Given the description of an element on the screen output the (x, y) to click on. 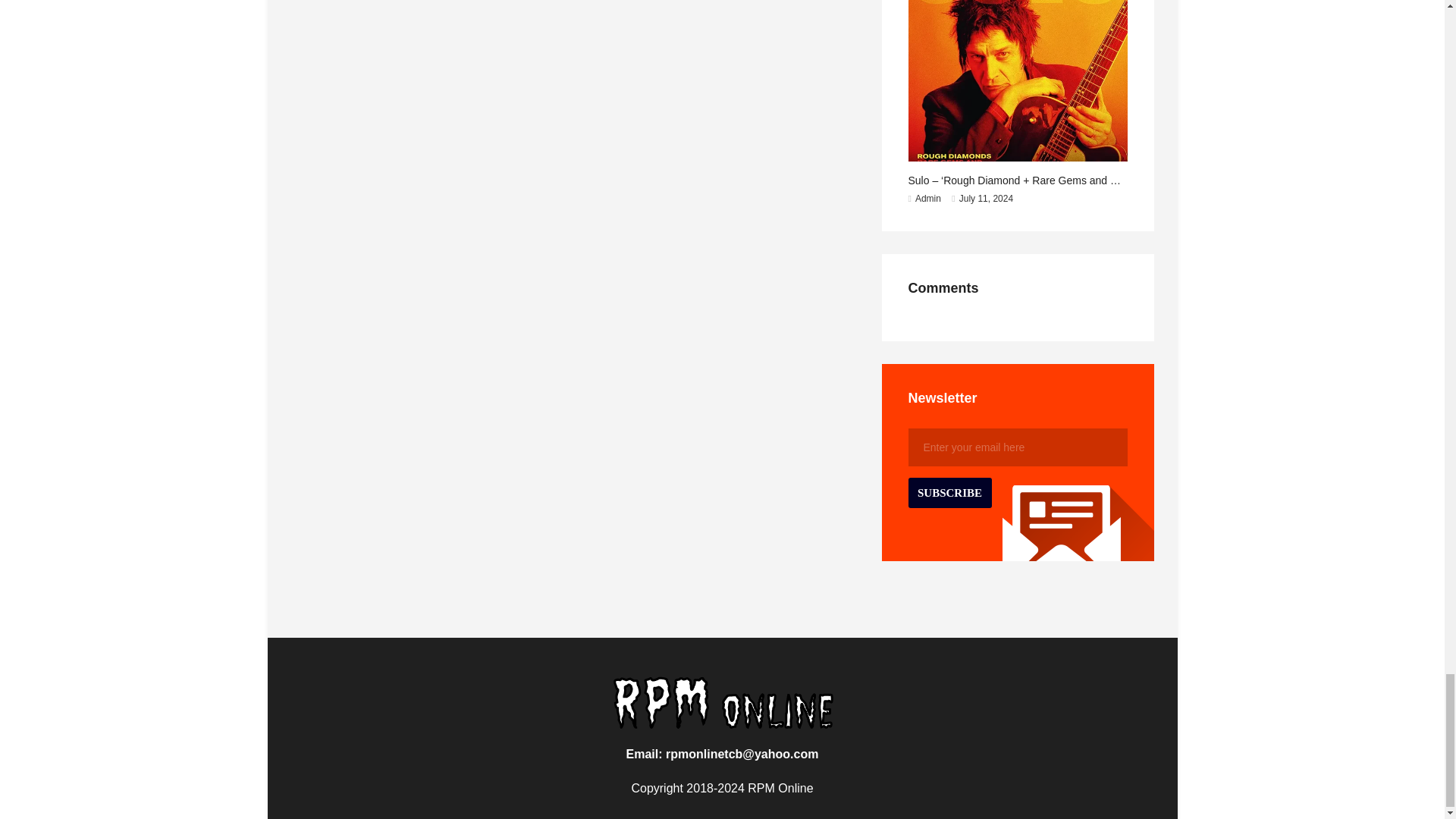
Subscribe (949, 492)
